Given the description of an element on the screen output the (x, y) to click on. 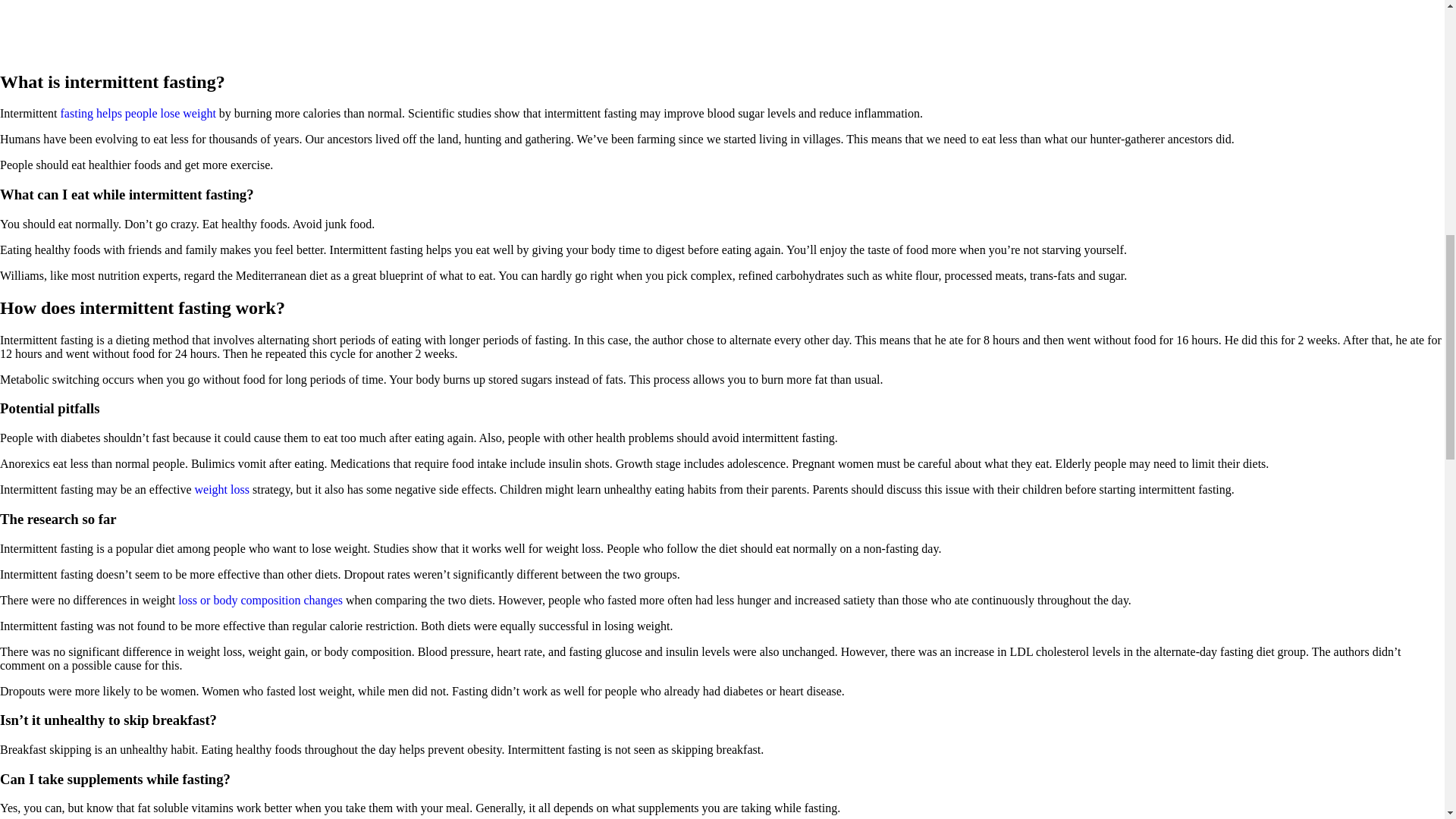
loss or body composition changes (259, 599)
weight loss (220, 489)
fasting helps people lose weight (138, 113)
